Given the description of an element on the screen output the (x, y) to click on. 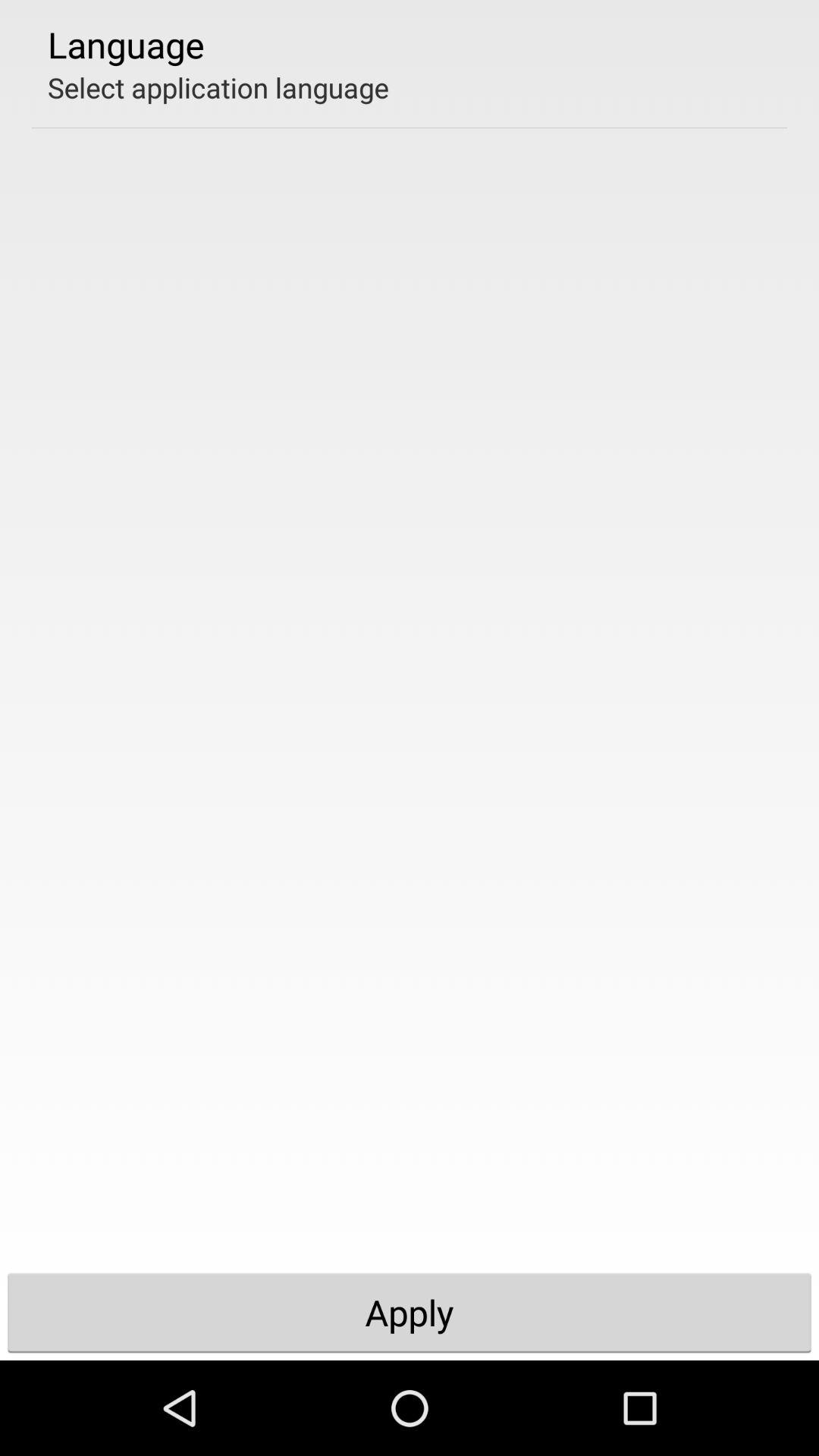
turn on icon above apply item (218, 87)
